Given the description of an element on the screen output the (x, y) to click on. 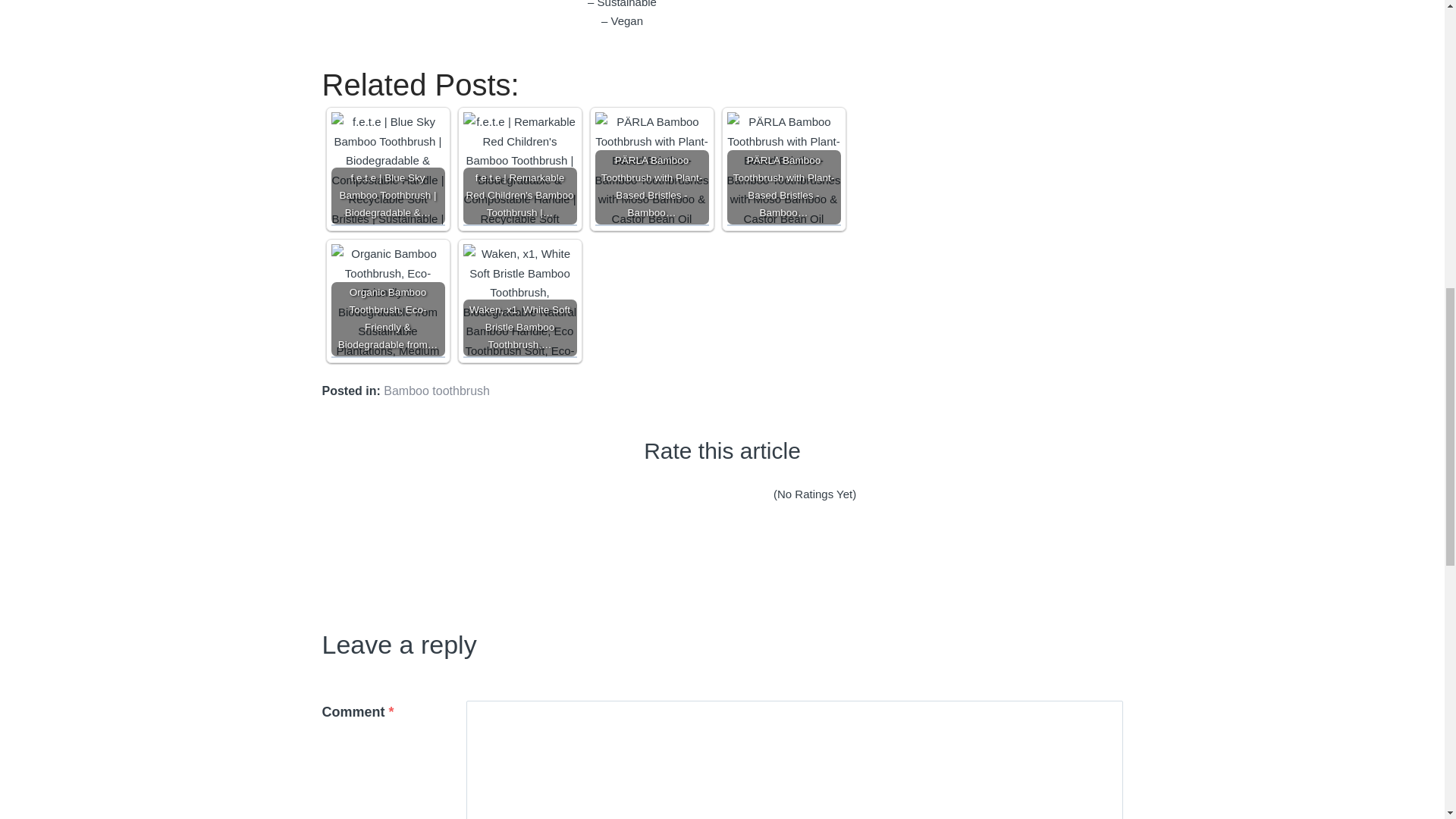
Bamboo toothbrush (436, 390)
